Given the description of an element on the screen output the (x, y) to click on. 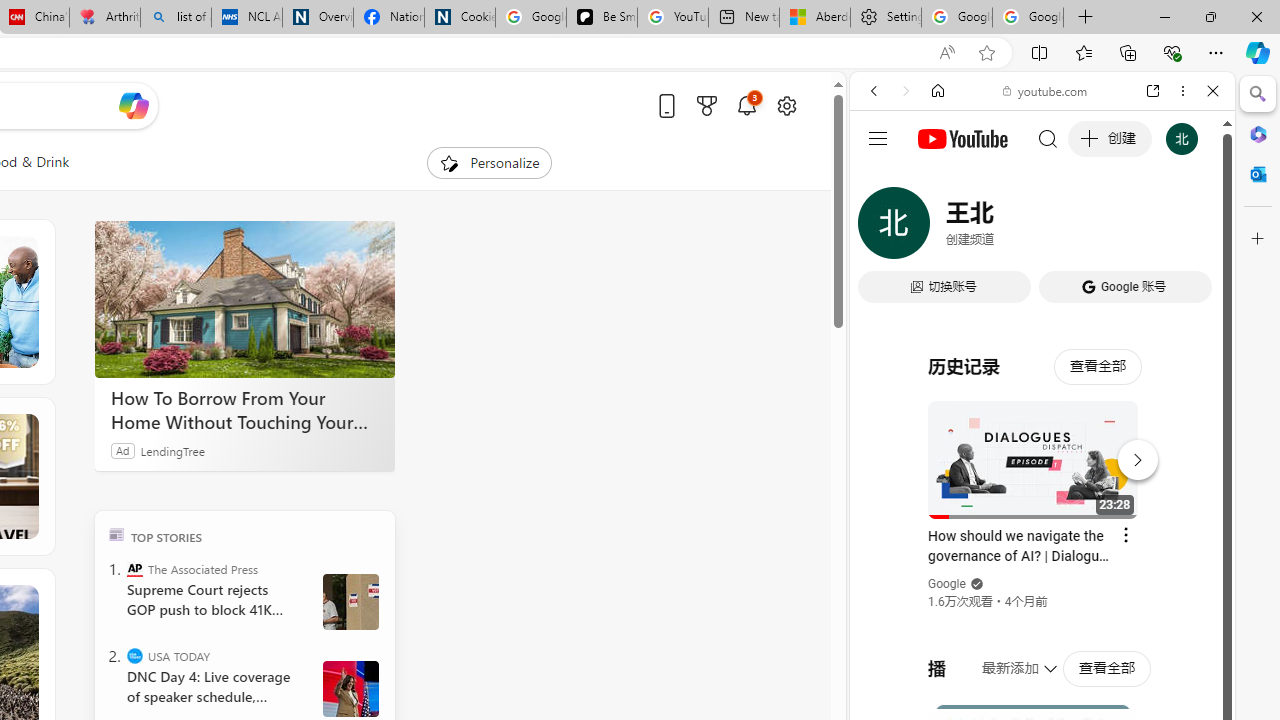
Cookies (460, 17)
Search Filter, WEB (882, 228)
Search Filter, VIDEOS (1006, 228)
Trailer #2 [HD] (1042, 592)
YouTube (1034, 296)
NCL Adult Asthma Inhaler Choice Guideline (246, 17)
Google (947, 584)
Open link in new tab (1153, 91)
